Given the description of an element on the screen output the (x, y) to click on. 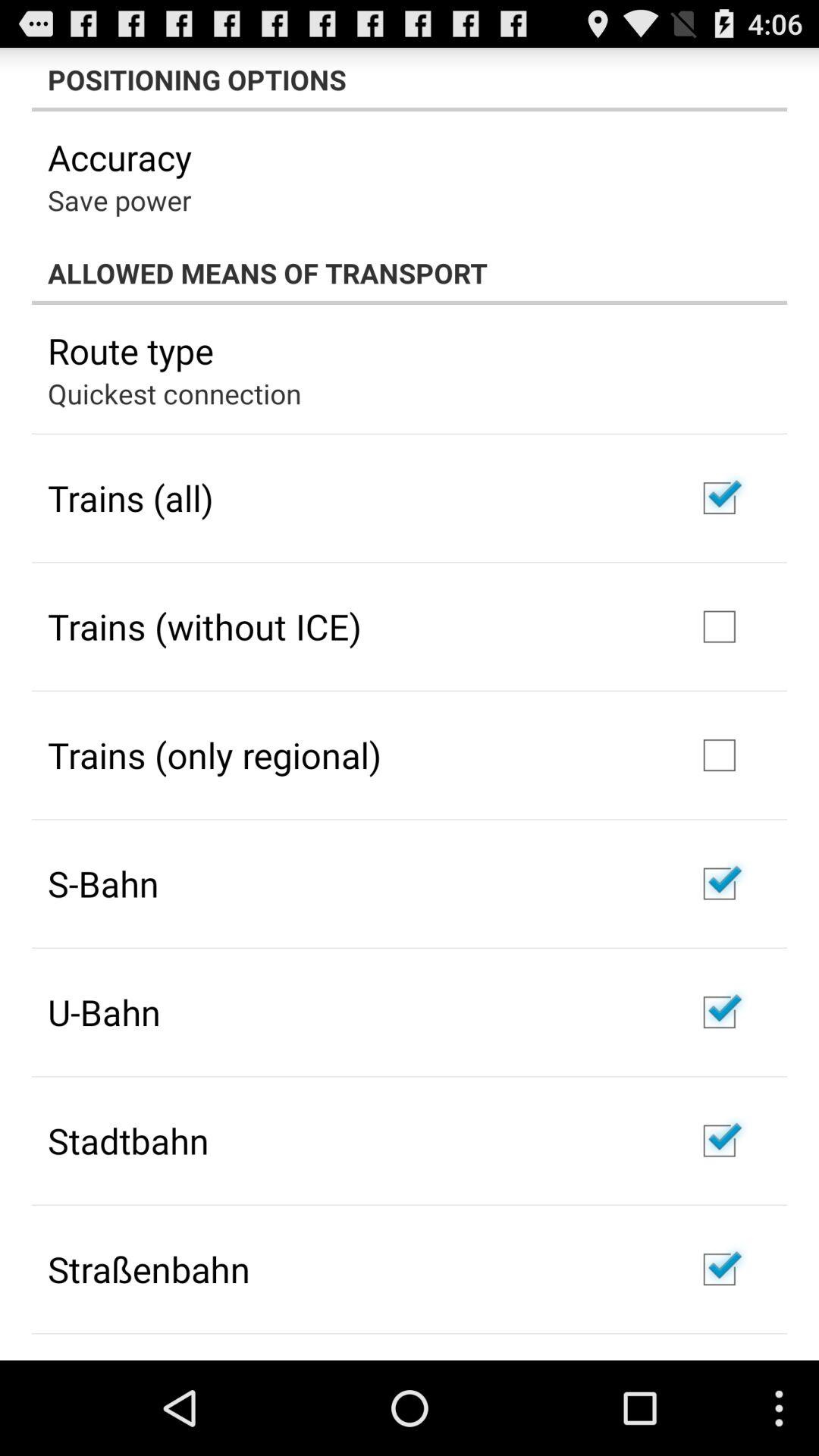
click the app below trains (without ice) app (214, 754)
